Given the description of an element on the screen output the (x, y) to click on. 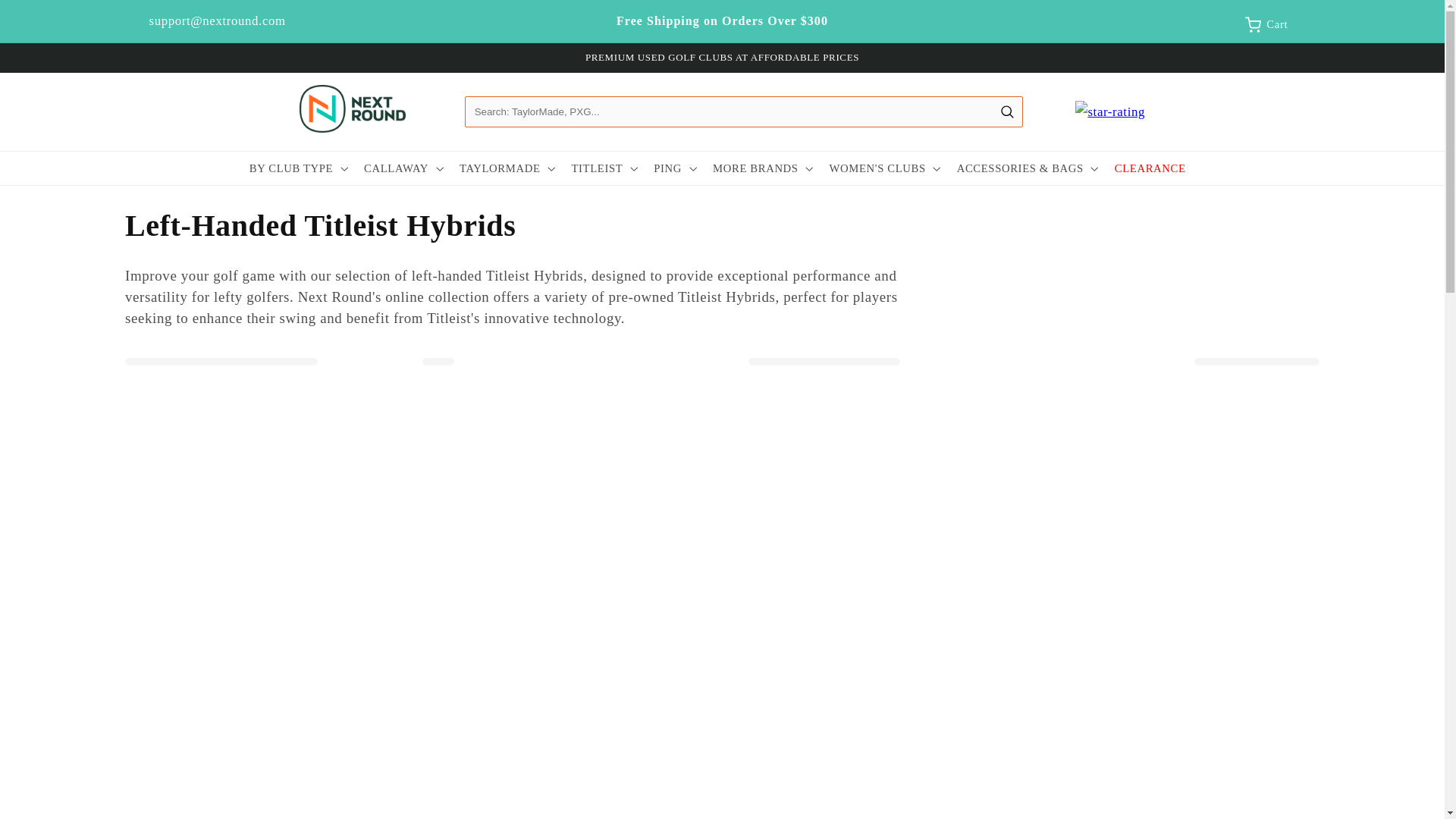
Cart (1252, 24)
Skip to content (48, 18)
